Given the description of an element on the screen output the (x, y) to click on. 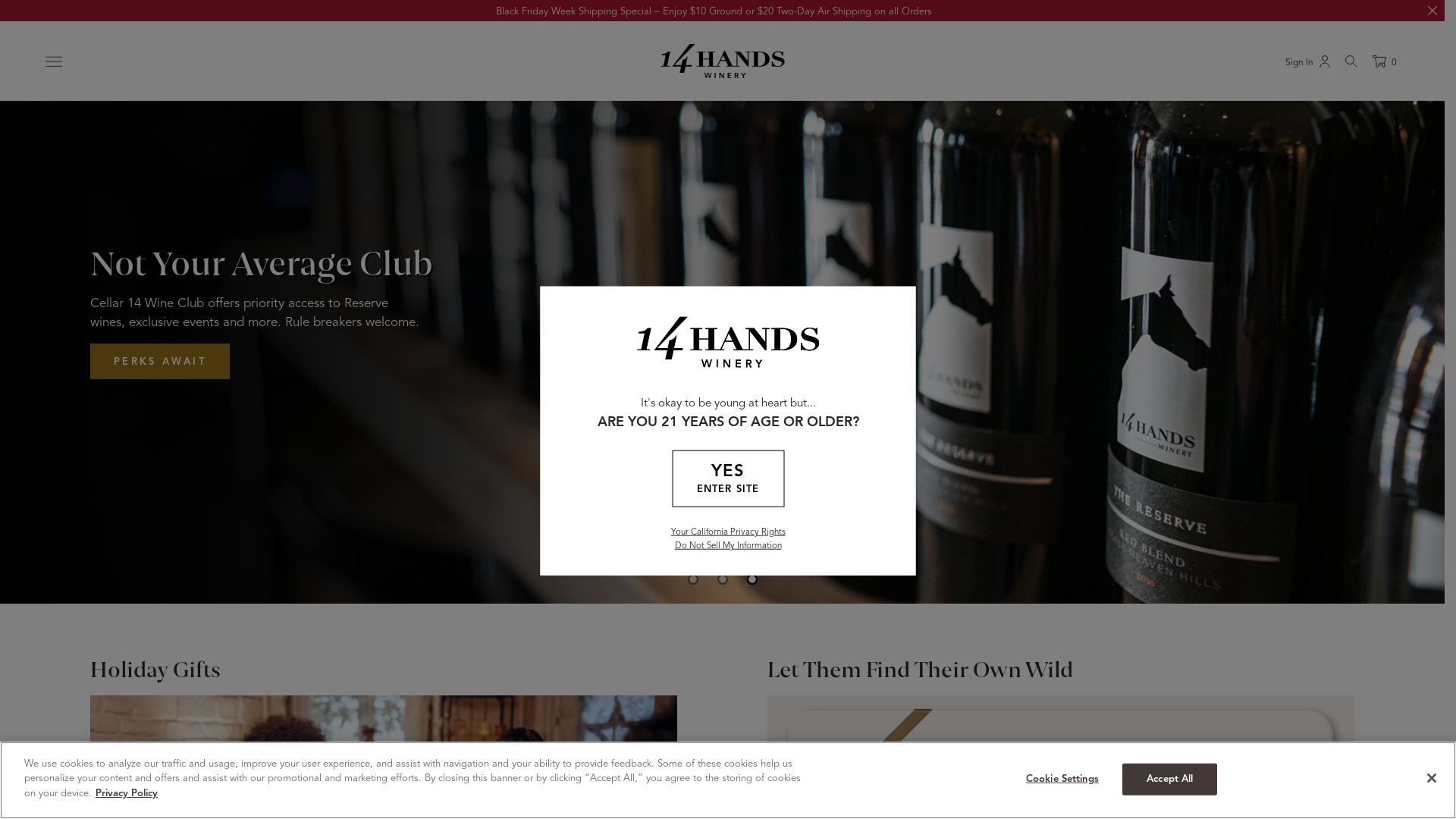
Accept All Element type: text (1169, 779)
Your California Privacy Rights Element type: text (728, 531)
(0) Element type: text (1385, 61)
  Element type: hover (722, 312)
Cookie Settings Element type: text (1061, 779)
Do Not Sell My Information Element type: text (728, 545)
YES
ENTER SITE Element type: text (727, 477)
Privacy Policy Element type: text (126, 793)
Sign In Element type: text (1307, 61)
SHOP GIFTS Element type: text (1289, 351)
